Given the description of an element on the screen output the (x, y) to click on. 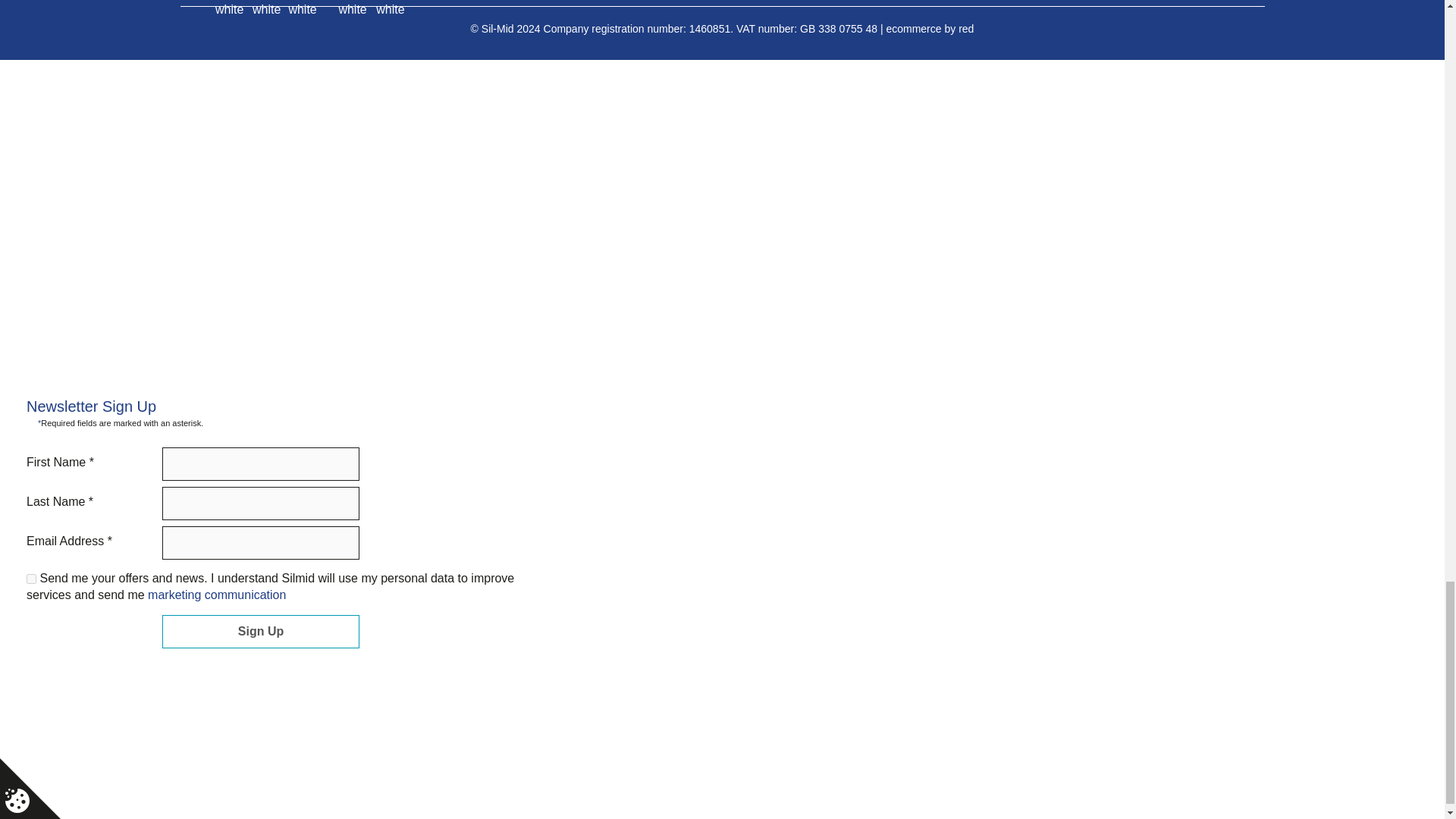
1 (31, 578)
